Given the description of an element on the screen output the (x, y) to click on. 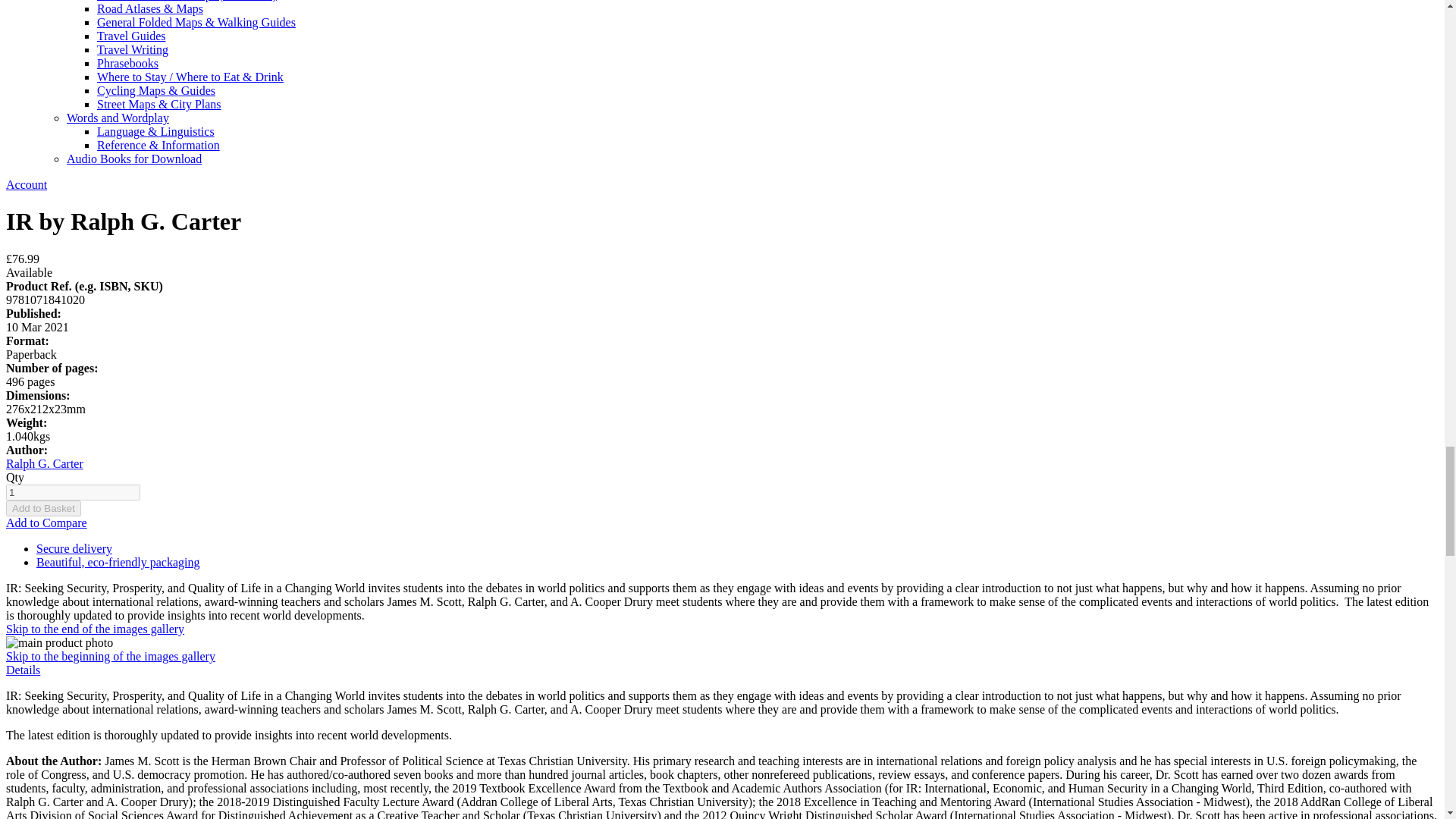
Add to Basket (43, 508)
1 (72, 492)
Qty (72, 492)
